Given the description of an element on the screen output the (x, y) to click on. 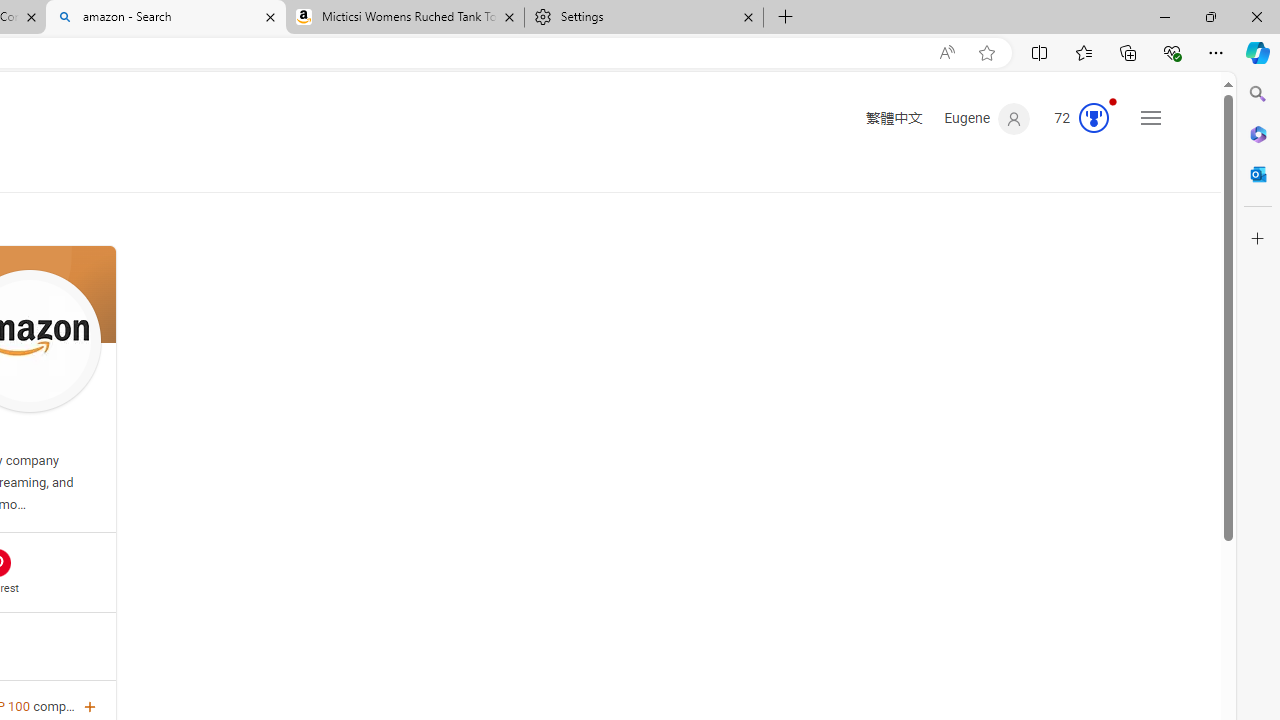
Microsoft Rewards 72 (1075, 119)
Eugene (987, 119)
Settings and quick links (1150, 117)
